Given the description of an element on the screen output the (x, y) to click on. 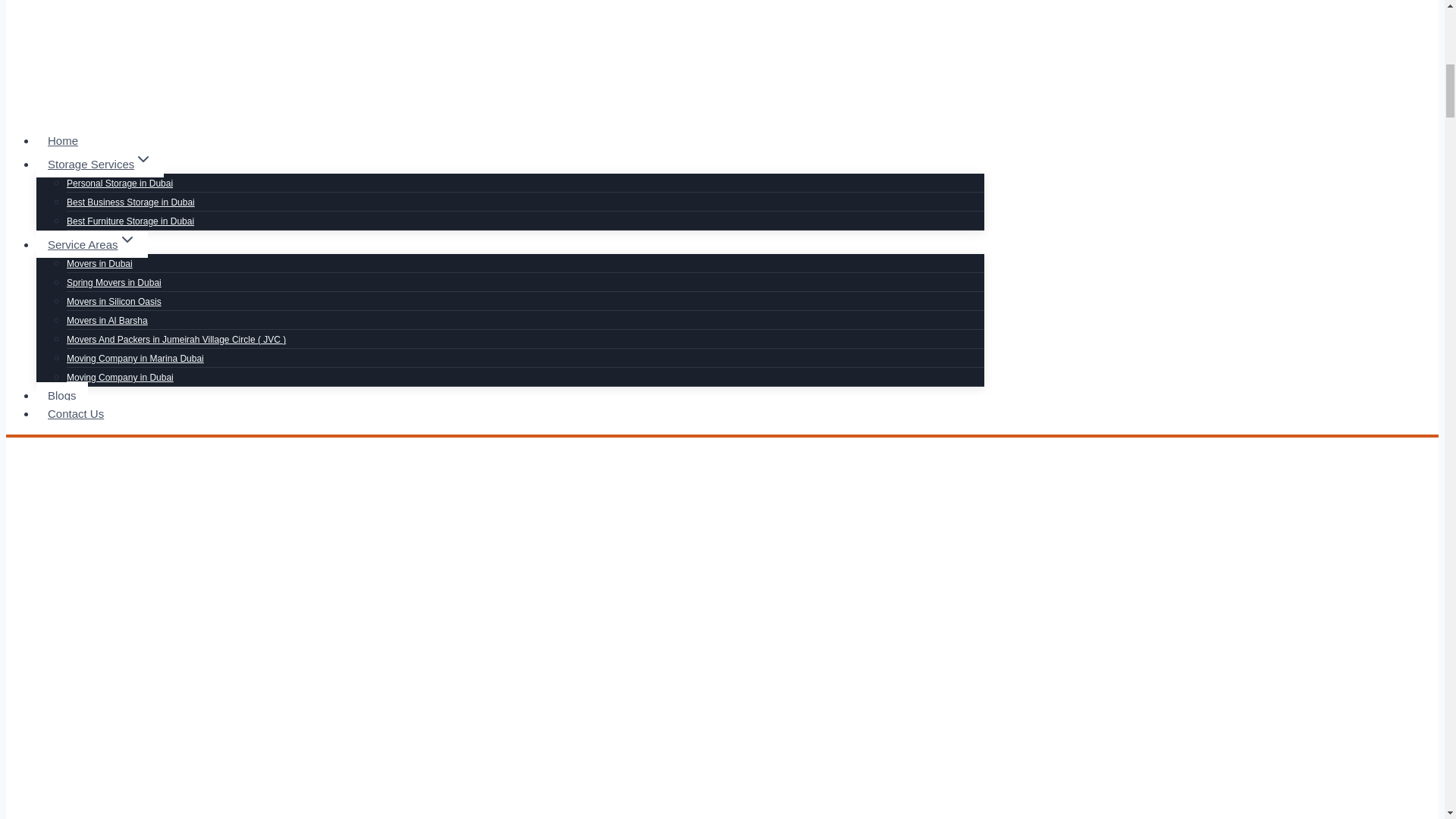
Best Furniture Storage in Dubai (129, 221)
Best Business Storage in Dubai (130, 202)
Expand (142, 158)
Moving Company in Marina Dubai (134, 358)
Personal Storage in Dubai (119, 183)
Storage ServicesExpand (99, 163)
Home (62, 140)
Movers in Silicon Oasis (113, 301)
Service AreasExpand (92, 243)
Blogs (61, 395)
